Given the description of an element on the screen output the (x, y) to click on. 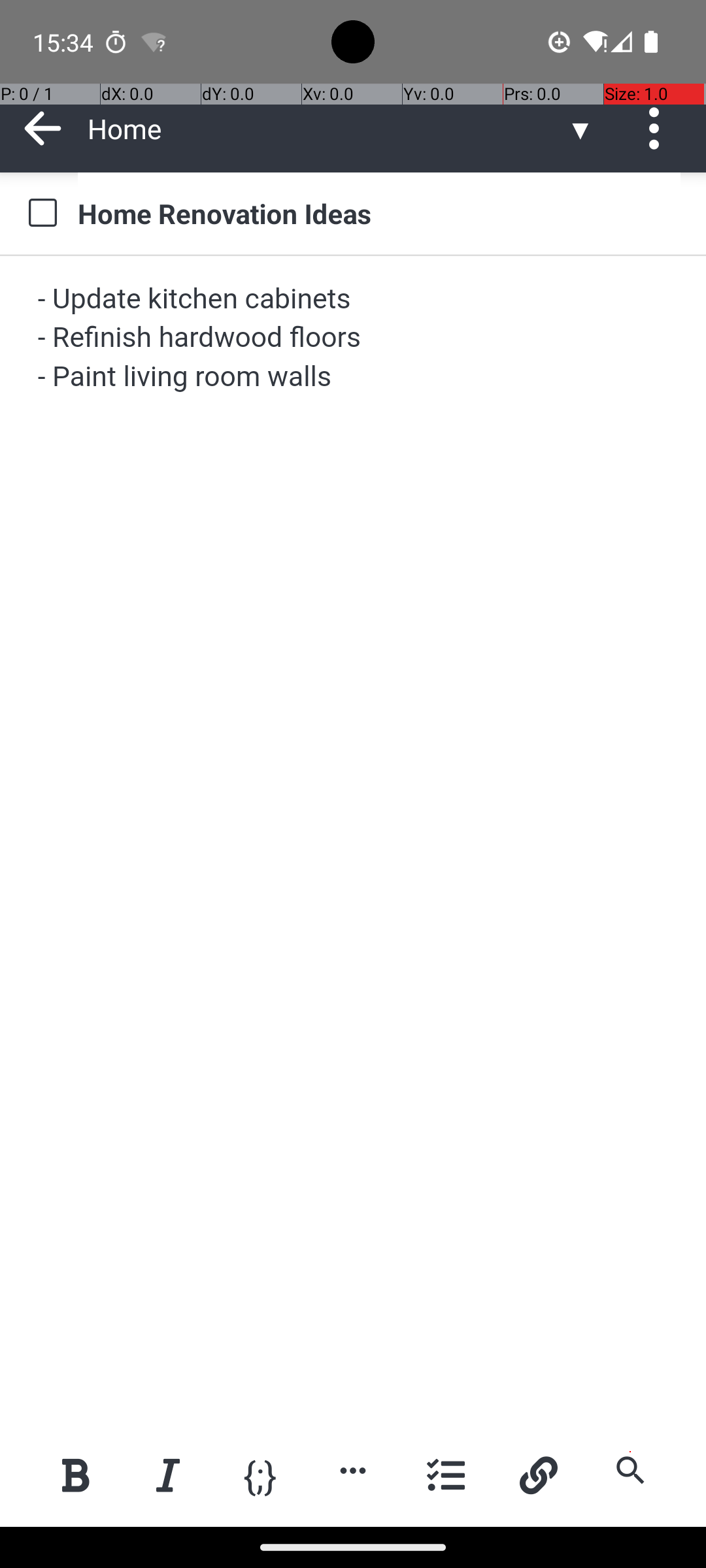
Home Renovation Ideas Element type: android.widget.EditText (378, 213)
- Update kitchen cabinets 
- Refinish hardwood floors 
- Paint living room walls Element type: android.widget.EditText (354, 338)
